Given the description of an element on the screen output the (x, y) to click on. 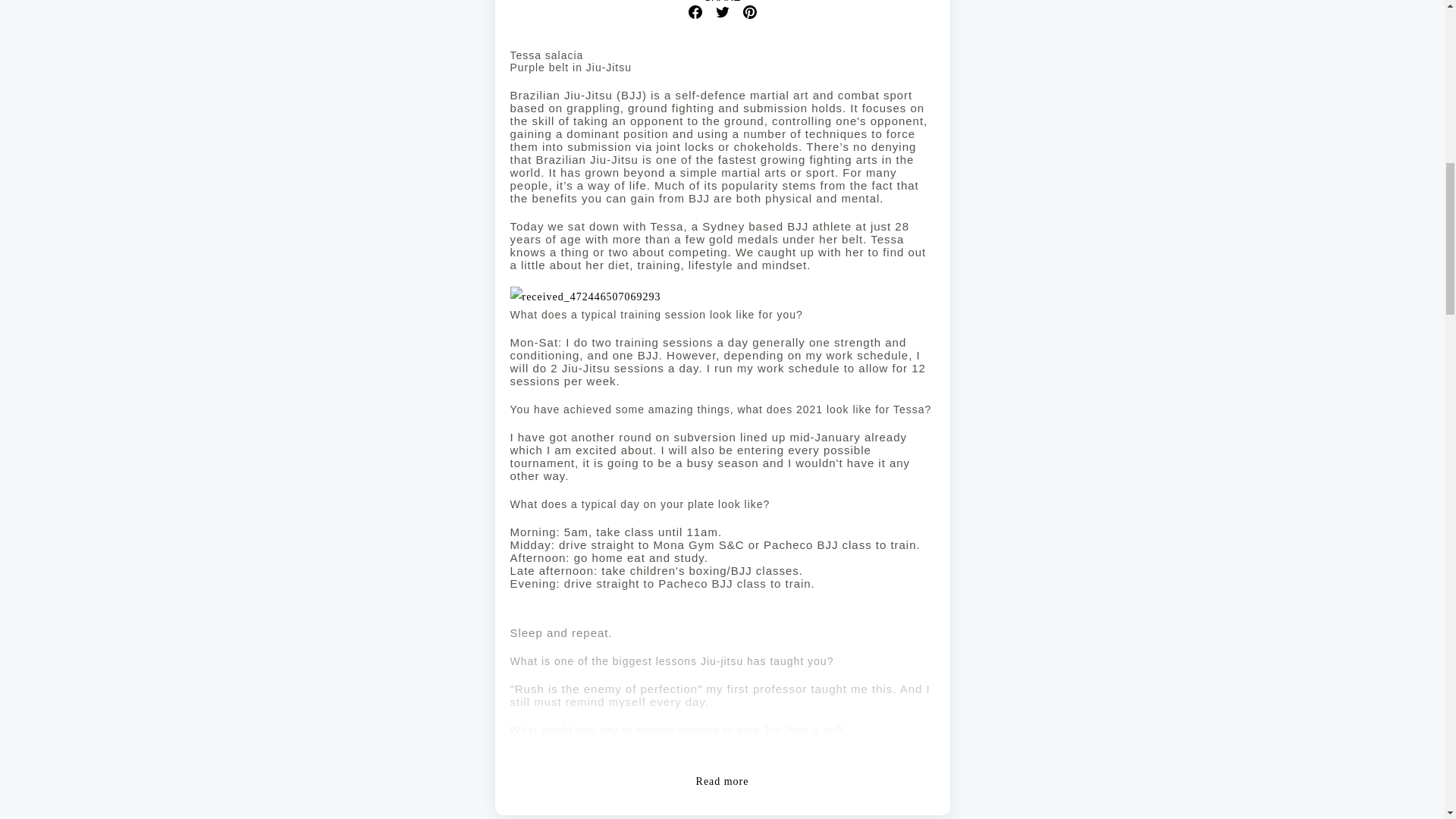
Tweet on Twitter (722, 11)
twitter (722, 11)
Share on Facebook (694, 11)
Pin on Pinterest (749, 11)
